Given the description of an element on the screen output the (x, y) to click on. 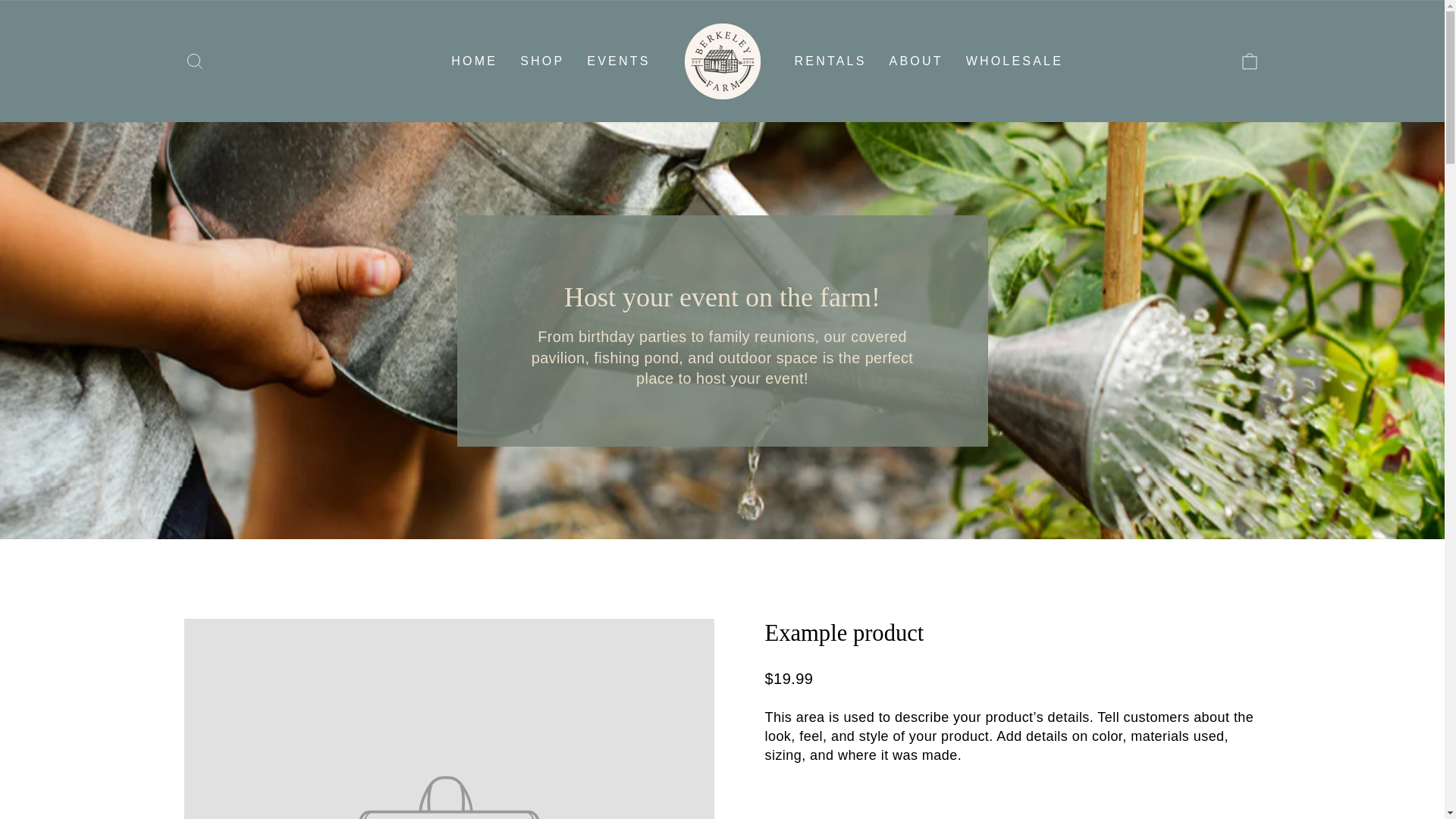
SEARCH (194, 61)
HOME (473, 60)
